Given the description of an element on the screen output the (x, y) to click on. 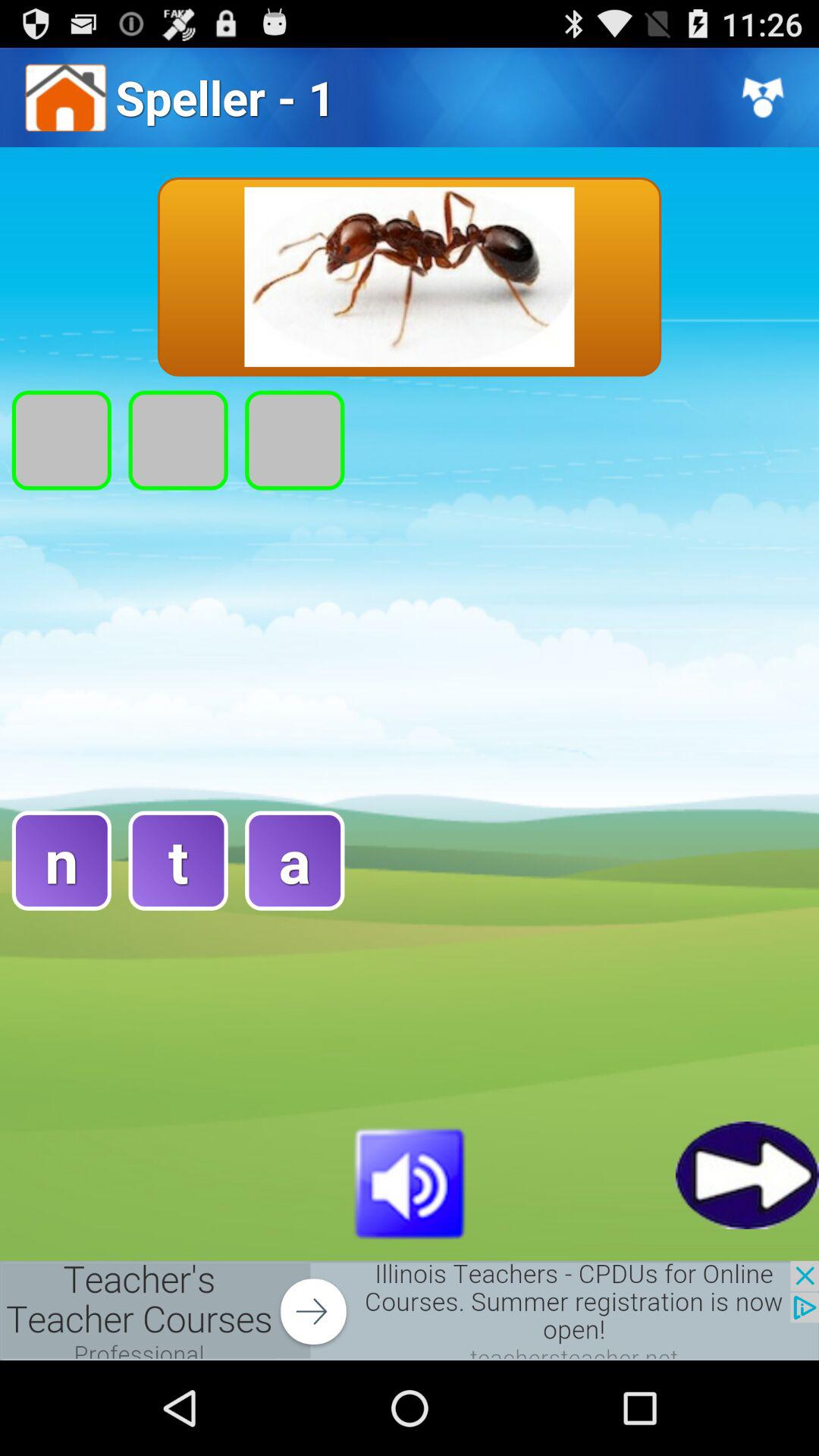
adjust volume (409, 1181)
